Given the description of an element on the screen output the (x, y) to click on. 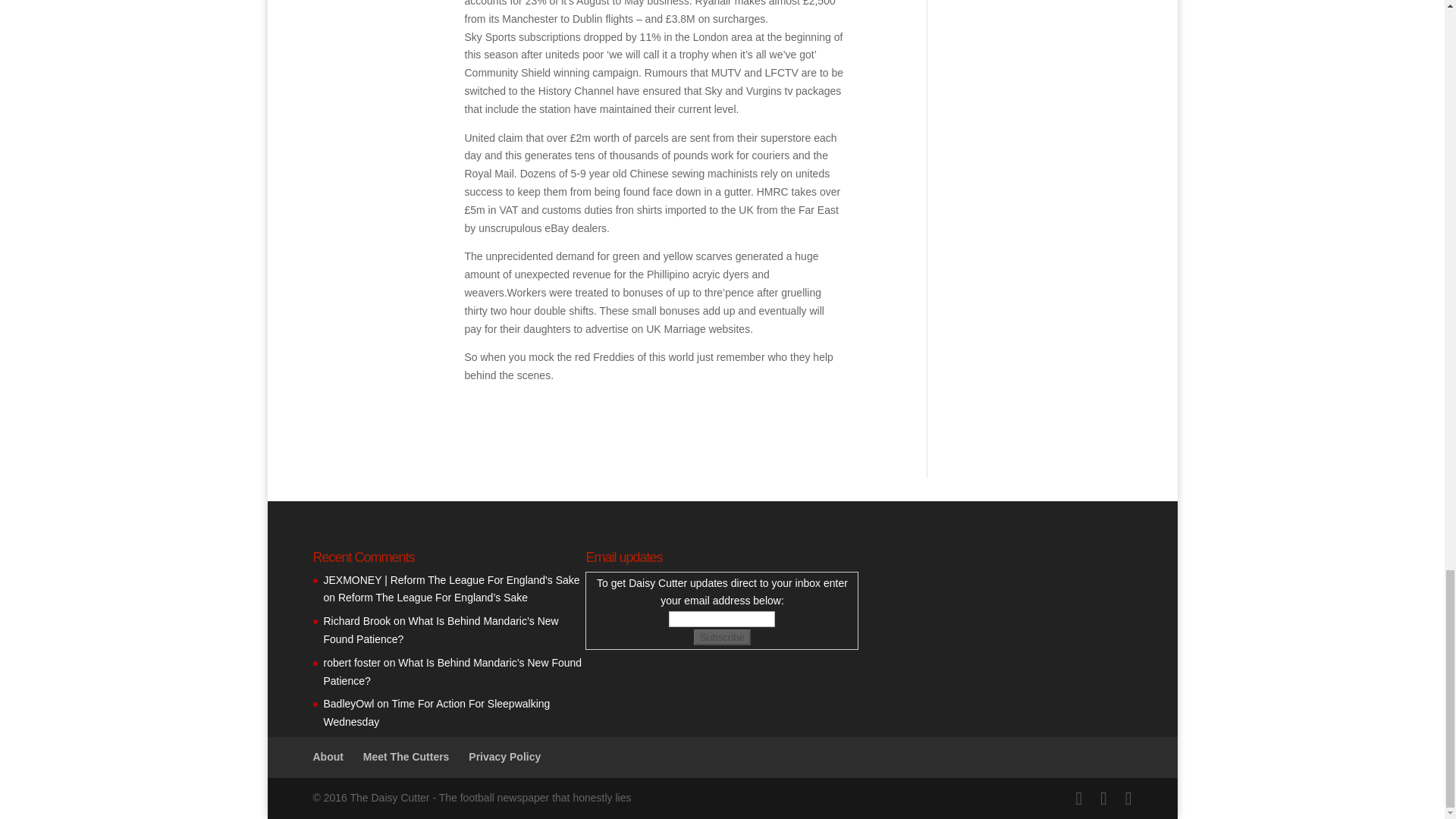
Subscribe (722, 637)
